Given the description of an element on the screen output the (x, y) to click on. 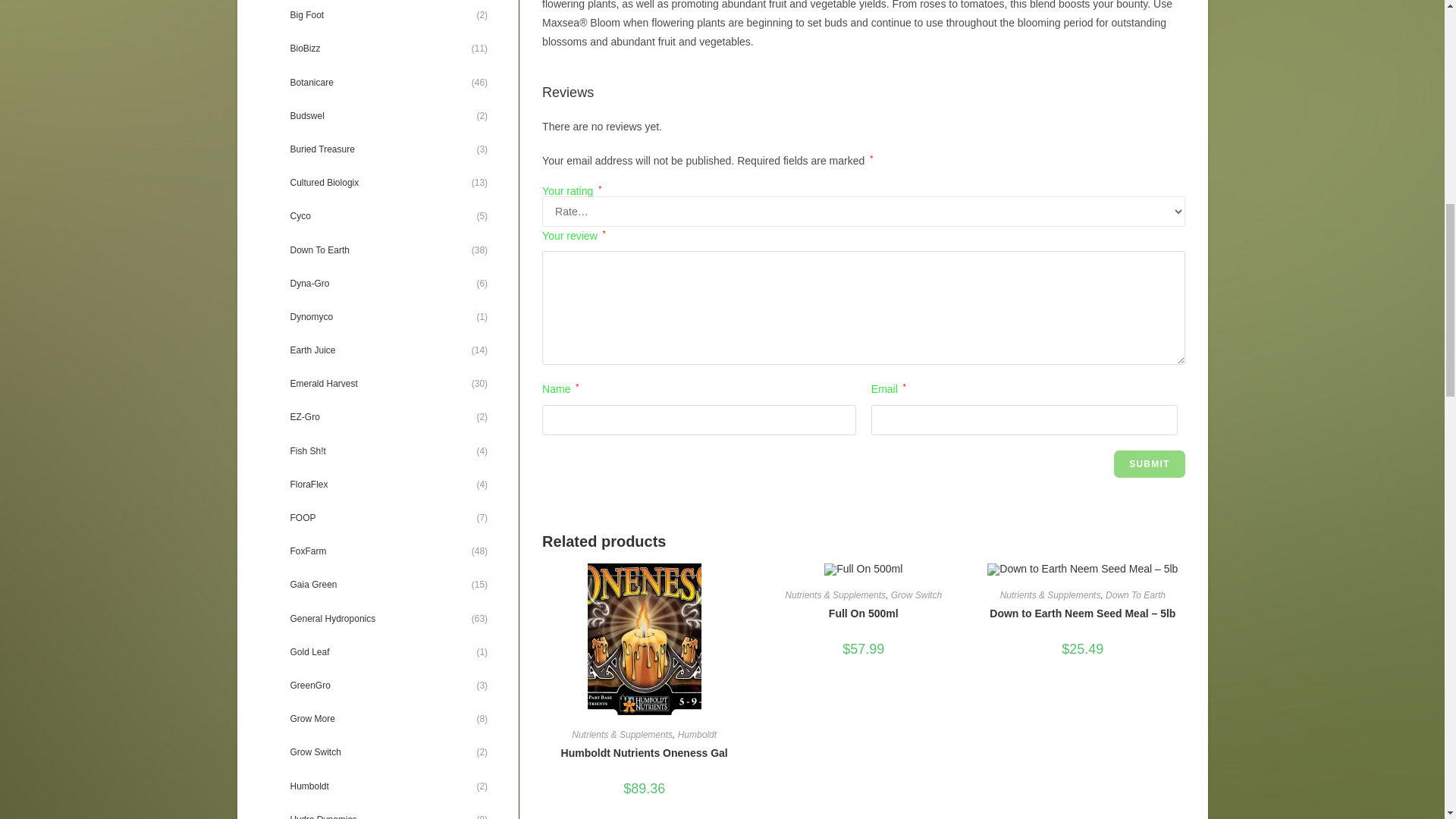
Submit (1149, 463)
